Given the description of an element on the screen output the (x, y) to click on. 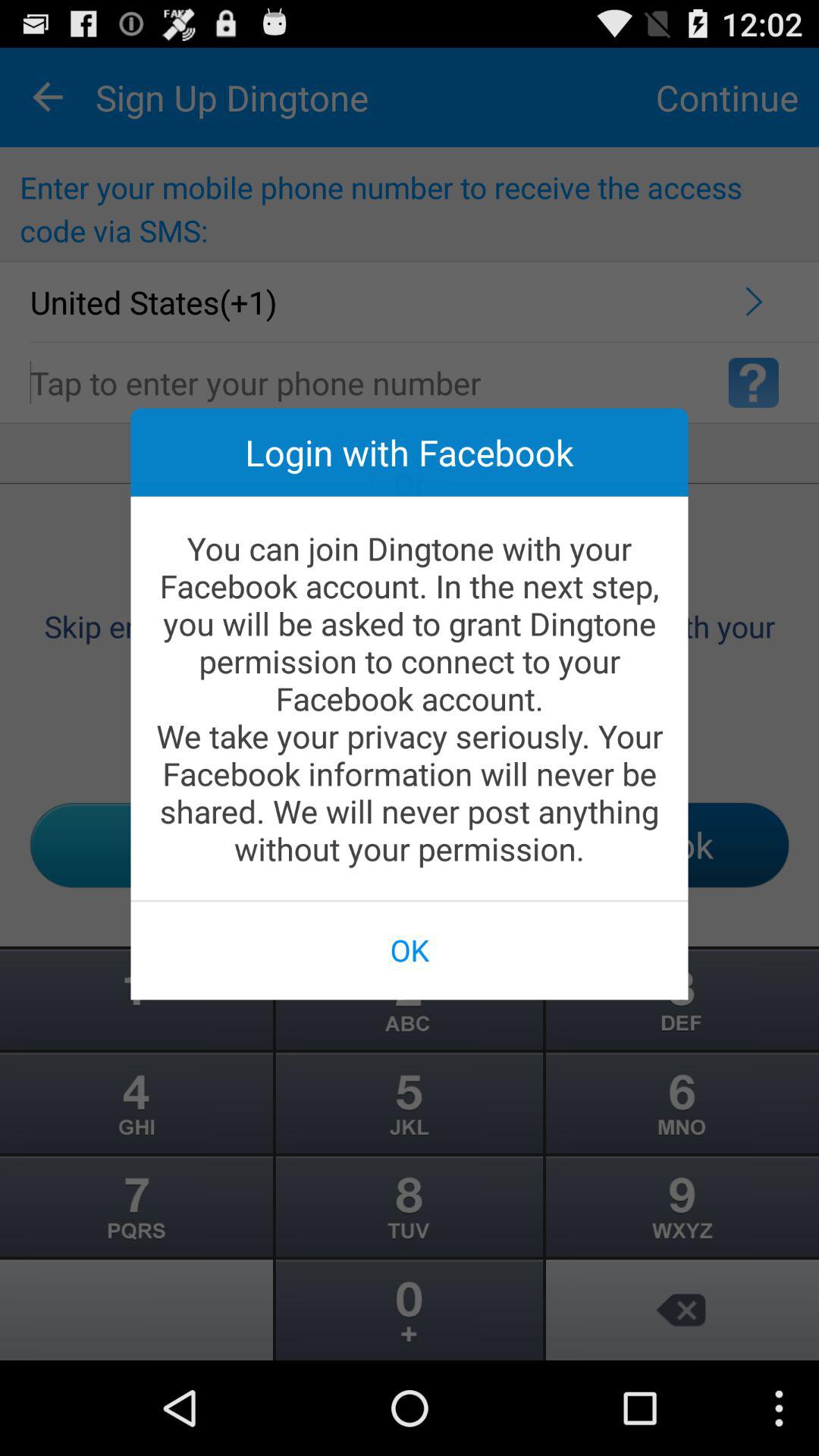
launch ok icon (409, 949)
